Given the description of an element on the screen output the (x, y) to click on. 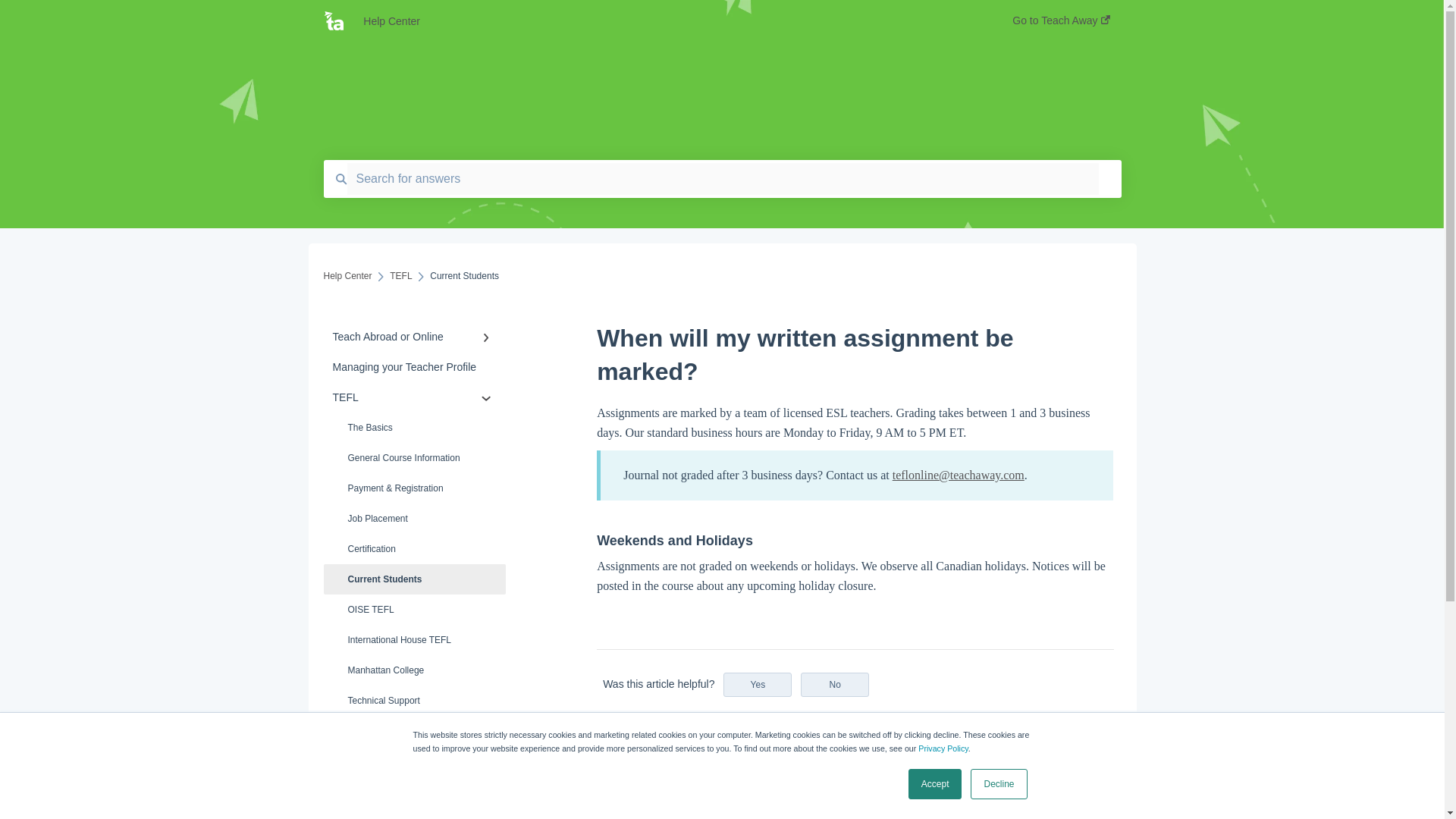
Go to Teach Away (1060, 25)
Help Center (664, 21)
Decline (998, 784)
Accept (935, 784)
Privacy Policy (943, 747)
